Given the description of an element on the screen output the (x, y) to click on. 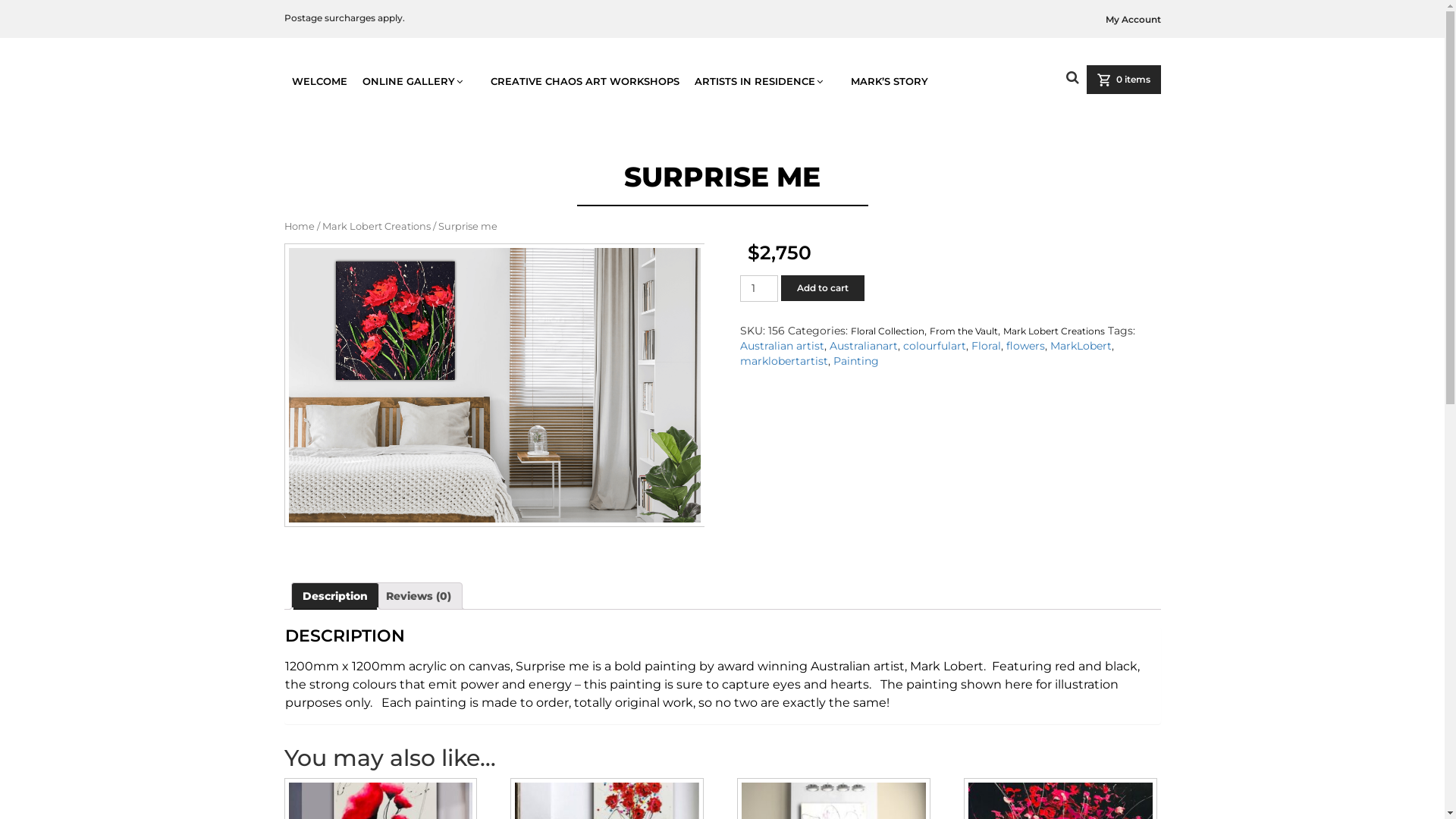
Description Element type: text (334, 595)
Add to cart Element type: text (822, 288)
WELCOME Element type: text (319, 80)
flowers Element type: text (1025, 345)
Reviews (0) Element type: text (417, 595)
Mark Lobert Creations Element type: text (1053, 330)
Qty Element type: hover (759, 288)
0 items Element type: text (1122, 79)
ONLINE GALLERY Element type: text (418, 80)
Australianart Element type: text (863, 345)
CREATIVE CHAOS ART WORKSHOPS Element type: text (584, 80)
colourfulart Element type: text (934, 345)
marklobertartist Element type: text (784, 360)
ARTISTS IN RESIDENCE Element type: text (764, 80)
Floral Collection Element type: text (887, 330)
MarkLobert Element type: text (1080, 345)
Home Element type: text (298, 226)
Floral Element type: text (986, 345)
My Account Element type: text (1133, 19)
Painting Element type: text (855, 360)
From the Vault Element type: text (963, 330)
Mark Lobert Creations Element type: text (375, 226)
Australian artist Element type: text (782, 345)
